Given the description of an element on the screen output the (x, y) to click on. 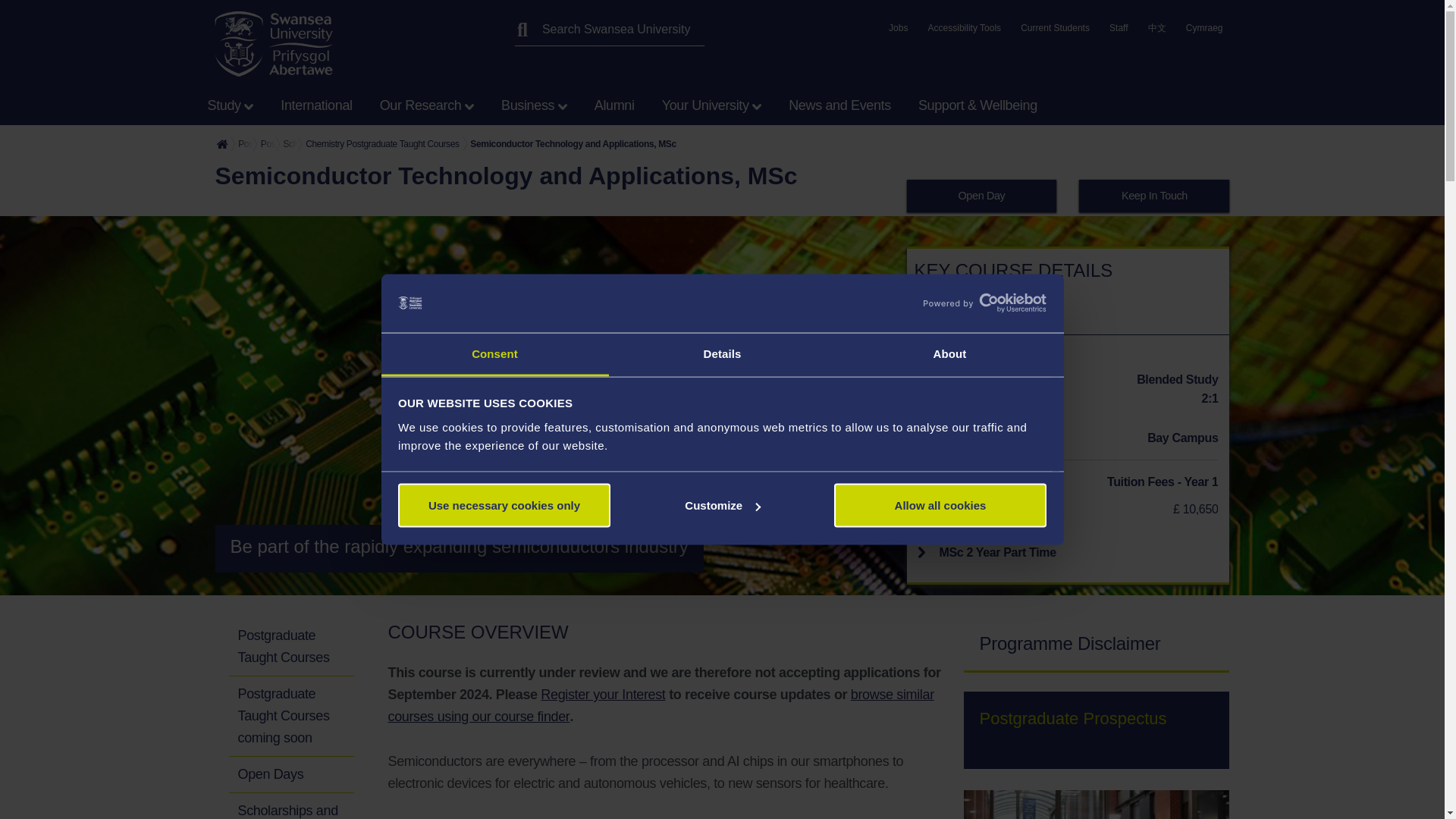
About (948, 353)
Consent (494, 353)
Details (721, 353)
